Given the description of an element on the screen output the (x, y) to click on. 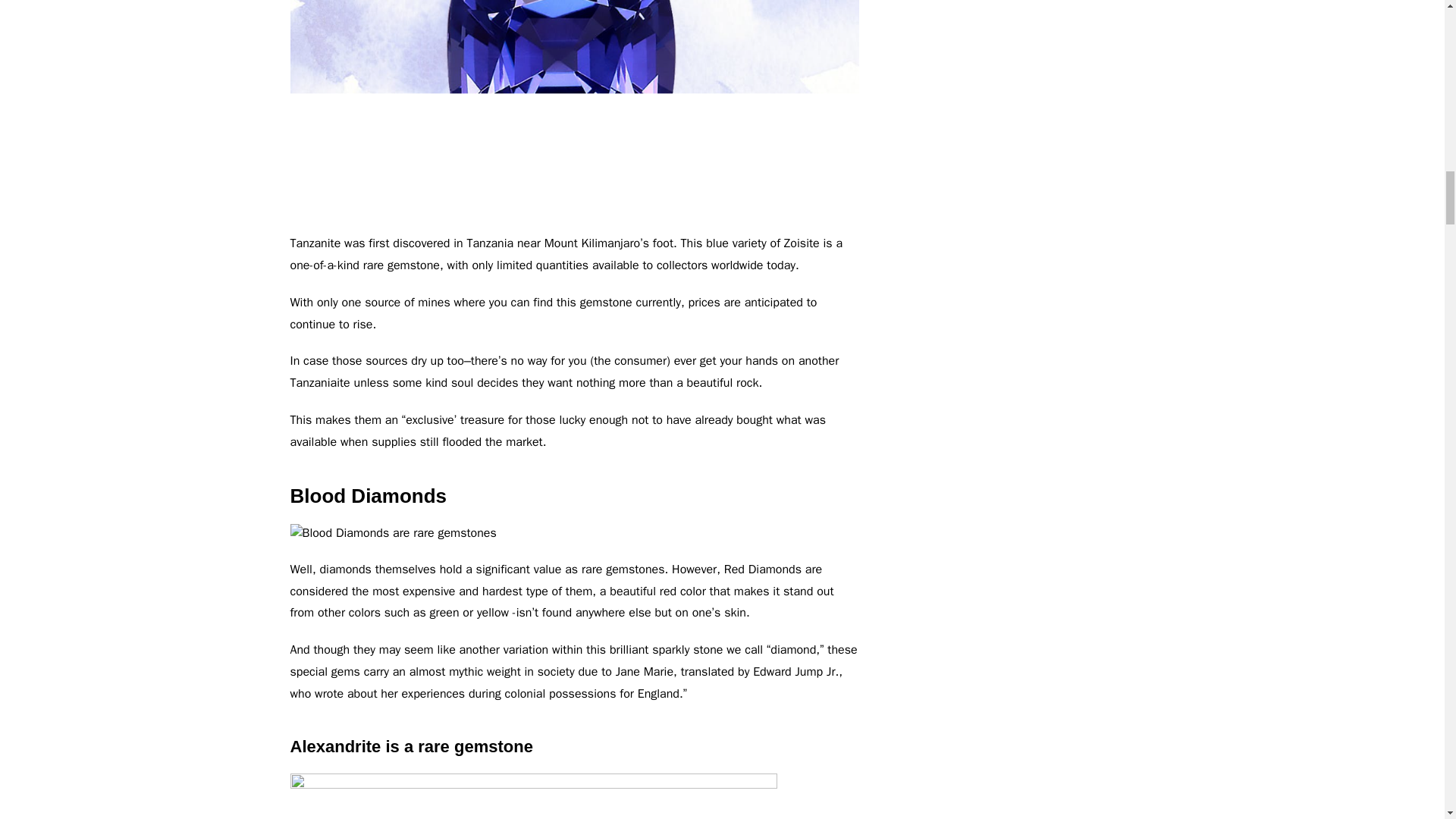
image-34 - News Home (532, 796)
image-33 - News Home (392, 533)
image-32 - News Home (574, 108)
